Given the description of an element on the screen output the (x, y) to click on. 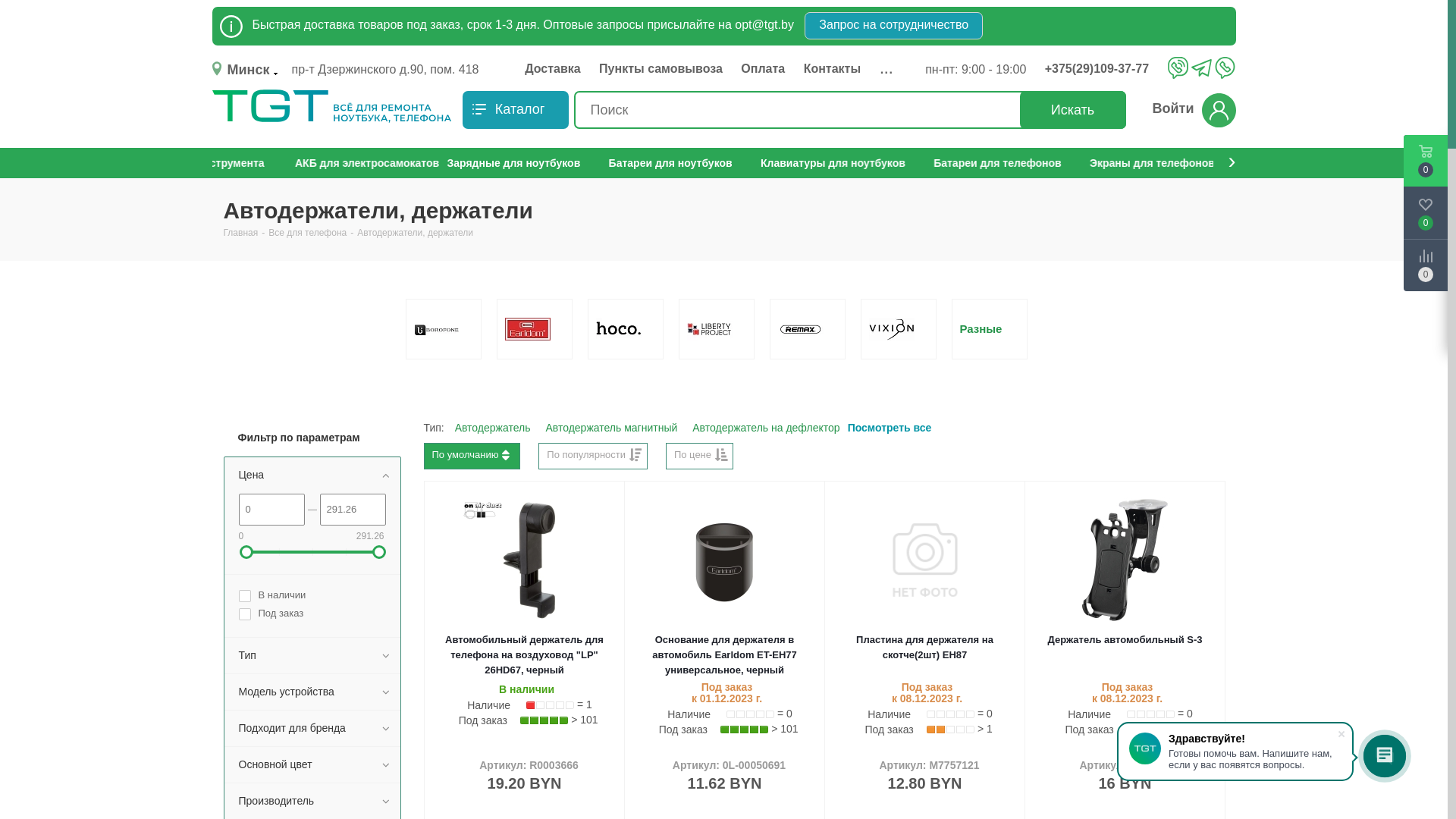
Borofone Element type: hover (436, 328)
+375(29)109-37-77 Element type: text (1100, 68)
Hoco Element type: hover (618, 328)
Vixion Element type: hover (891, 328)
Liberty project Element type: hover (709, 328)
Remax Element type: hover (800, 328)
Earldom Element type: hover (527, 328)
+375(29)109-37-77 Element type: text (1104, 68)
opt@tgt.by Element type: text (763, 24)
telegram Element type: hover (1201, 68)
viber Element type: hover (1177, 67)
whatsapp Element type: hover (1224, 67)
Y Element type: text (4, 4)
